Given the description of an element on the screen output the (x, y) to click on. 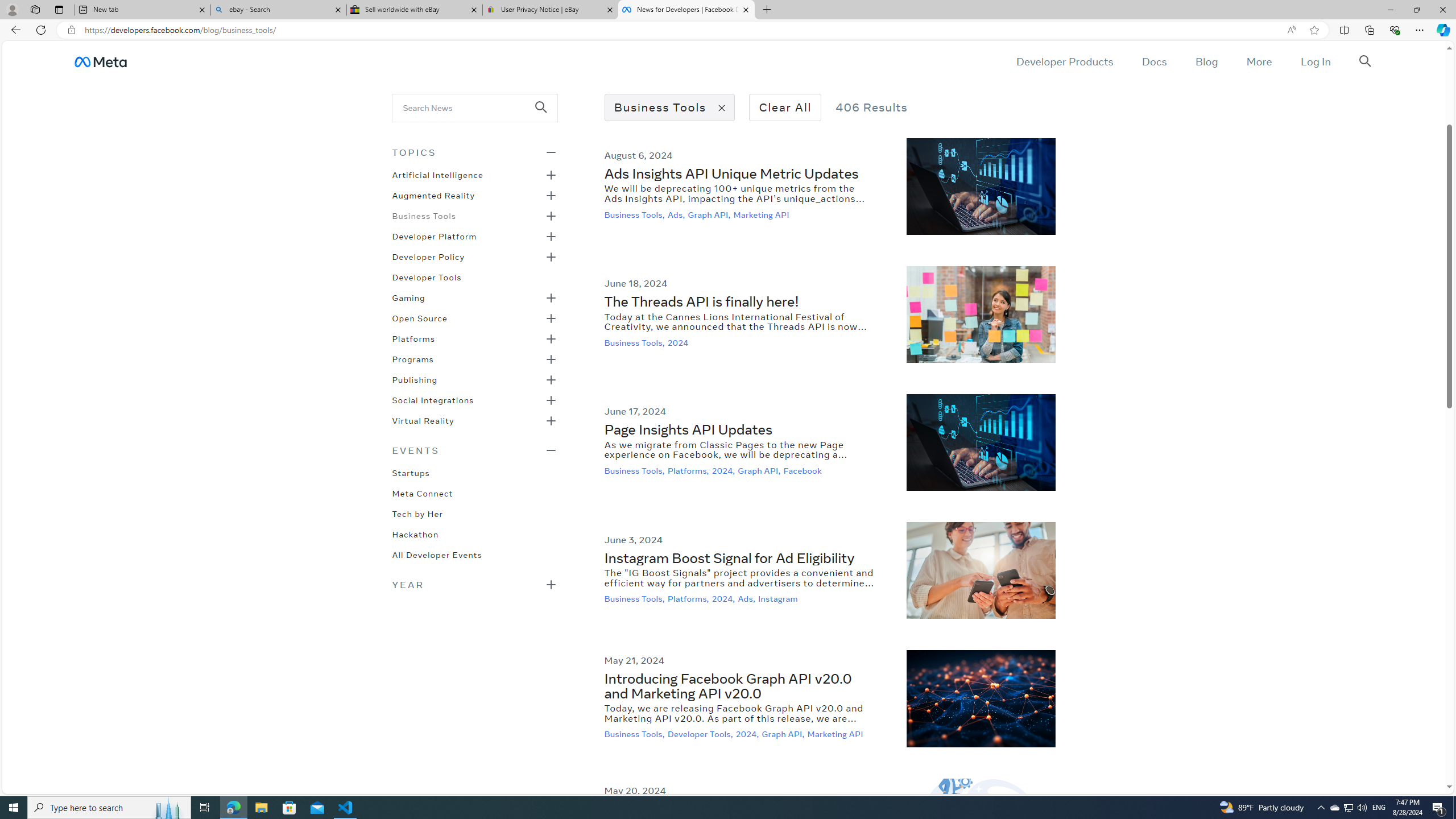
Class: _98ex _98ez (474, 423)
AutomationID: u_0_4z_2S (100, 61)
Augmented Reality (433, 194)
Ads, (748, 598)
Artificial Intelligence (437, 173)
Developer Tools (426, 276)
User Privacy Notice | eBay (550, 9)
Startups (410, 472)
Class: _98ex (474, 557)
Class: _98ce (545, 115)
